Given the description of an element on the screen output the (x, y) to click on. 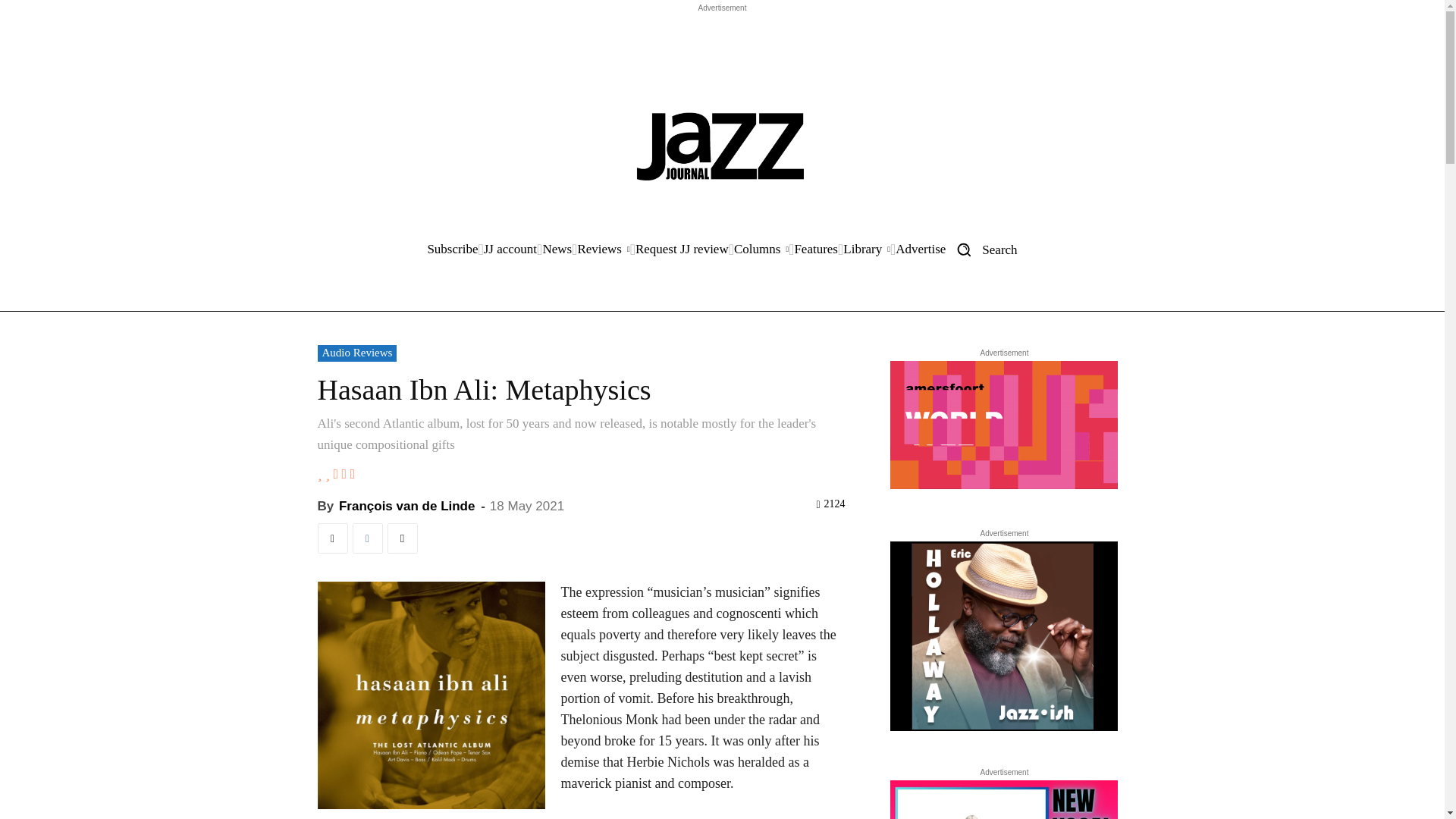
Twitter (332, 538)
Ali-Hasaan-Ibn-Metaphysics (430, 695)
Email (401, 538)
Request JJ review (681, 248)
JJ account (510, 248)
Reviews (602, 248)
Facebook (366, 538)
Columns (761, 248)
News (556, 248)
Advertisement (721, 49)
Subscribe (451, 248)
